Given the description of an element on the screen output the (x, y) to click on. 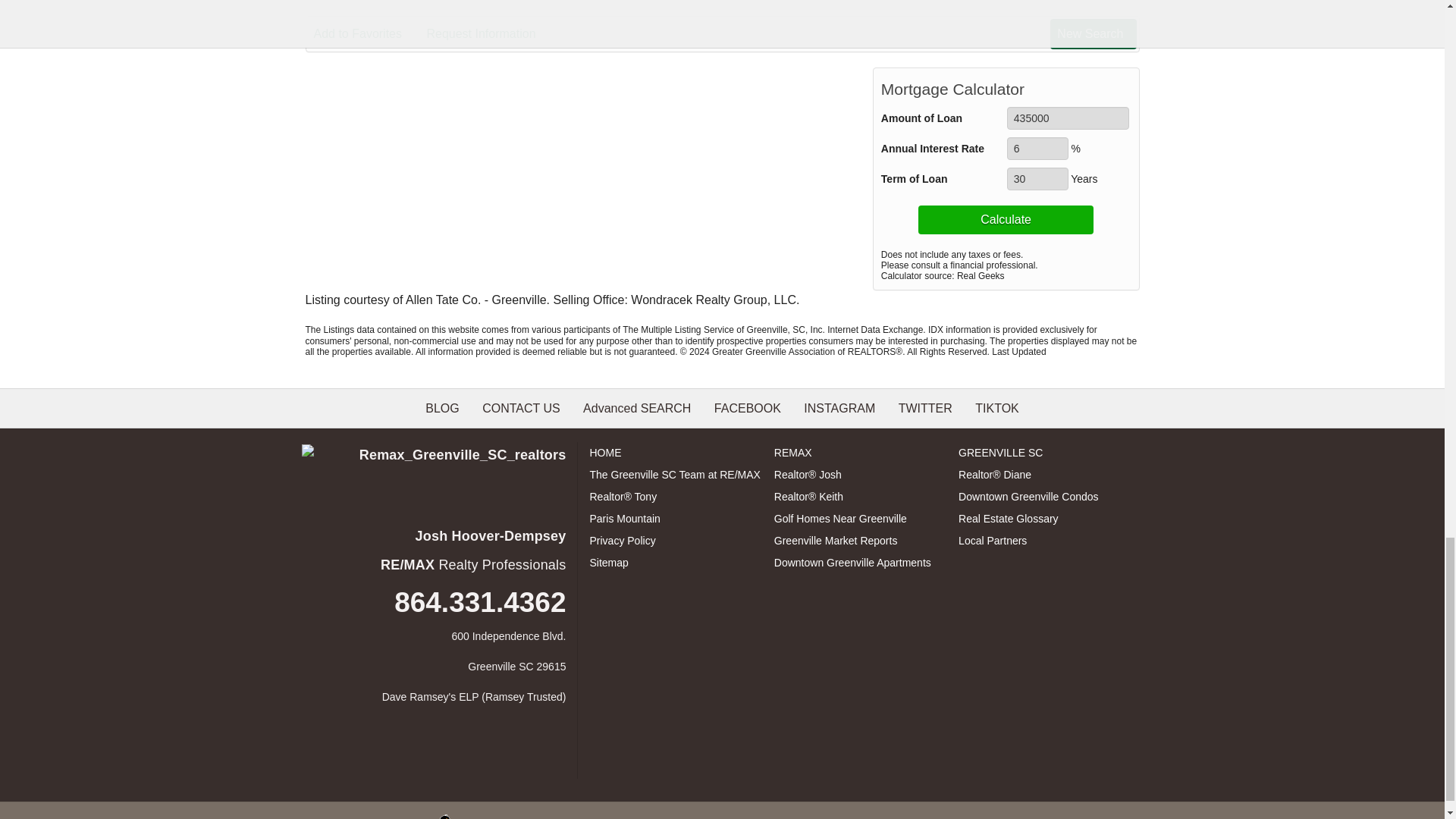
435000 (1068, 118)
6 (1037, 148)
30 (1037, 178)
